Given the description of an element on the screen output the (x, y) to click on. 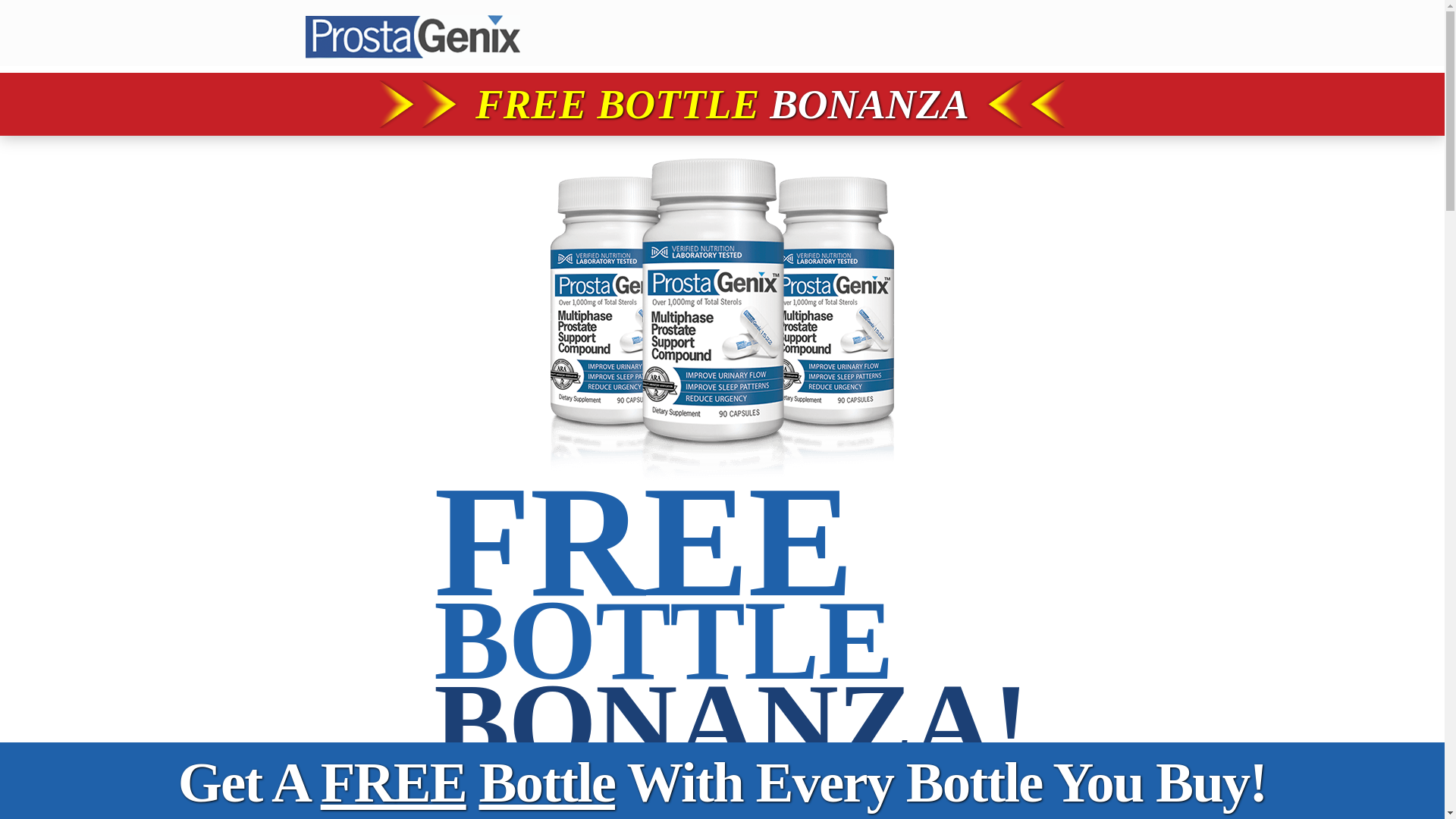
ProstaGenix (411, 33)
